Given the description of an element on the screen output the (x, y) to click on. 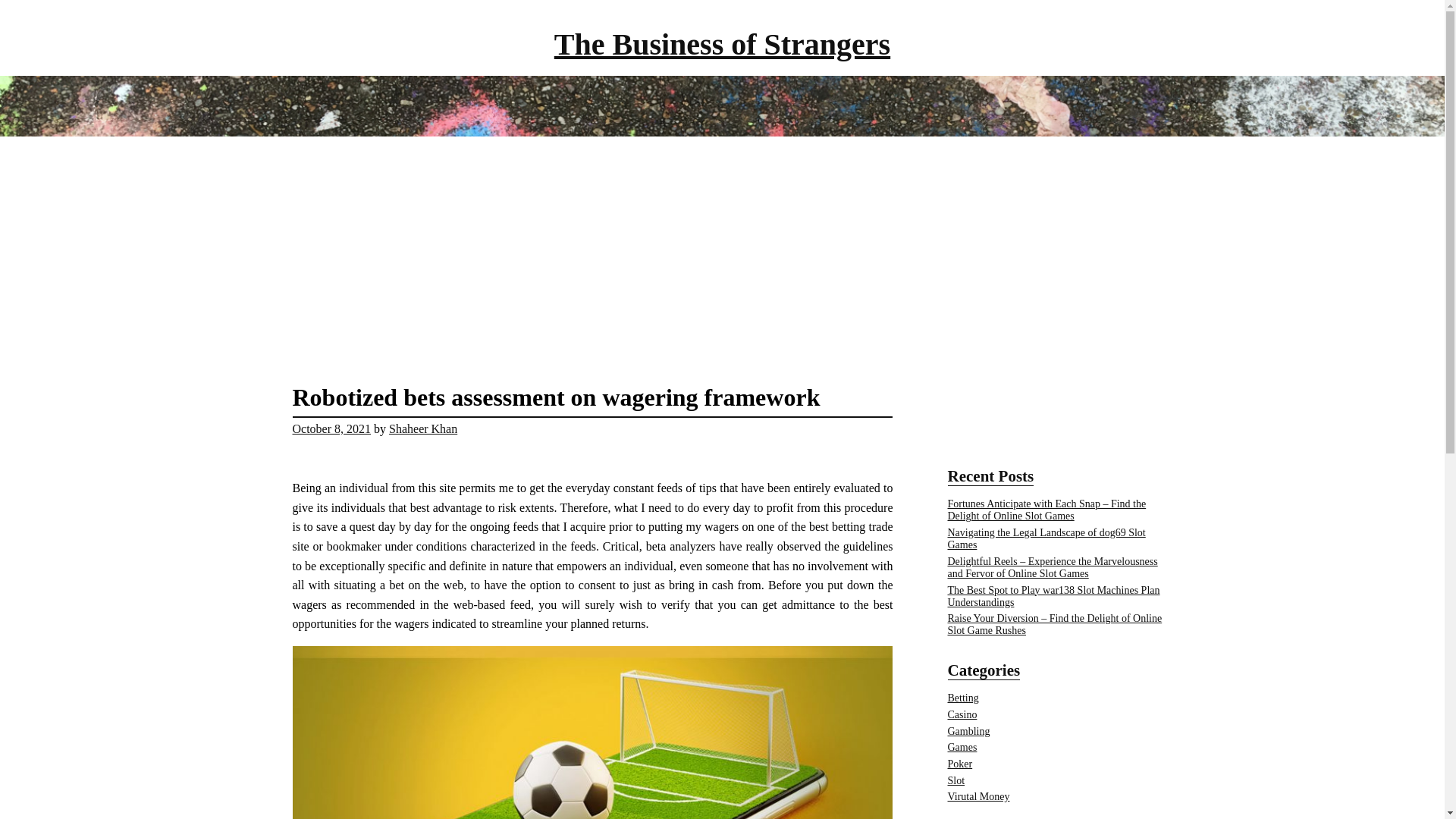
Casino (961, 714)
The Business of Strangers (721, 44)
October 8, 2021 (331, 428)
Shaheer Khan (422, 428)
Games (961, 747)
Slot (956, 780)
Betting (962, 697)
Virutal Money (978, 796)
Navigating the Legal Landscape of dog69 Slot Games (1046, 538)
Poker (959, 763)
Gambling (968, 731)
